Given the description of an element on the screen output the (x, y) to click on. 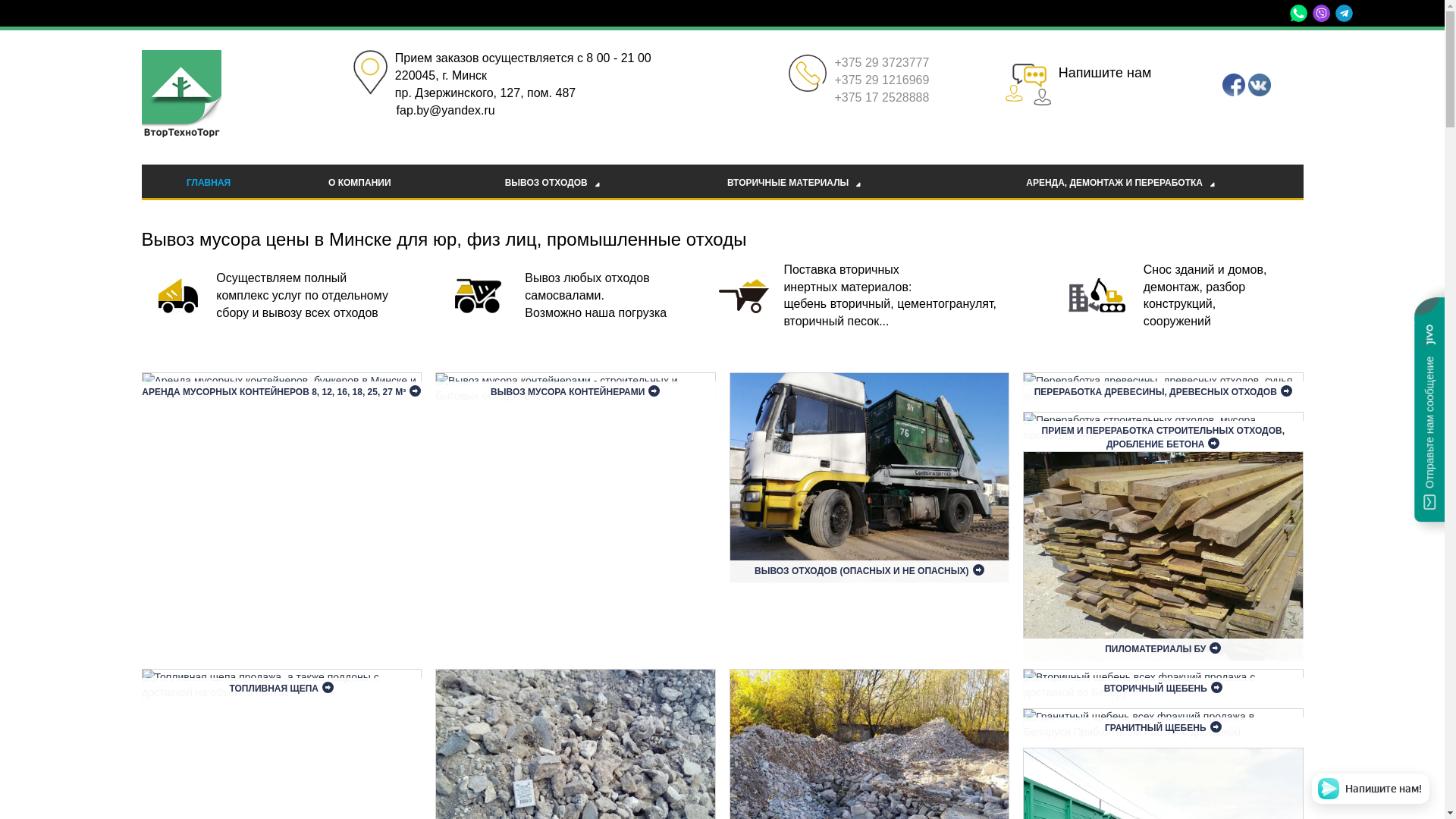
+375 29 3723777 Element type: text (881, 62)
+375 17 2528888 Element type: text (881, 97)
fap.by@yandex.ru Element type: text (445, 110)
+375 29 1216969 Element type: text (881, 79)
